Given the description of an element on the screen output the (x, y) to click on. 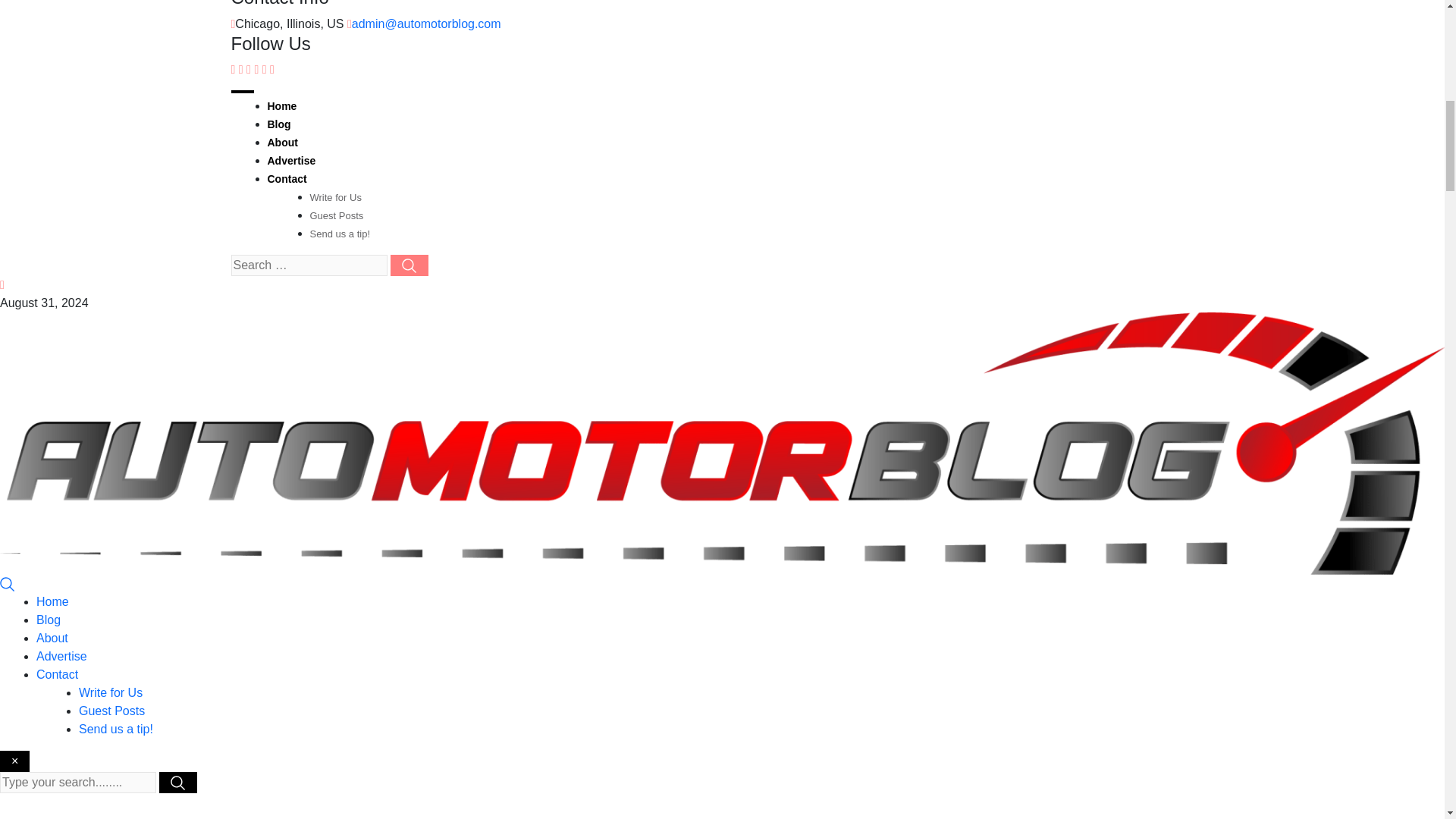
Advertise (61, 656)
Write for Us (334, 197)
Advertise (290, 160)
Contact (285, 178)
Blog (48, 619)
Home (52, 601)
About (281, 142)
About (52, 637)
Write for Us (110, 692)
Search (7, 583)
